Given the description of an element on the screen output the (x, y) to click on. 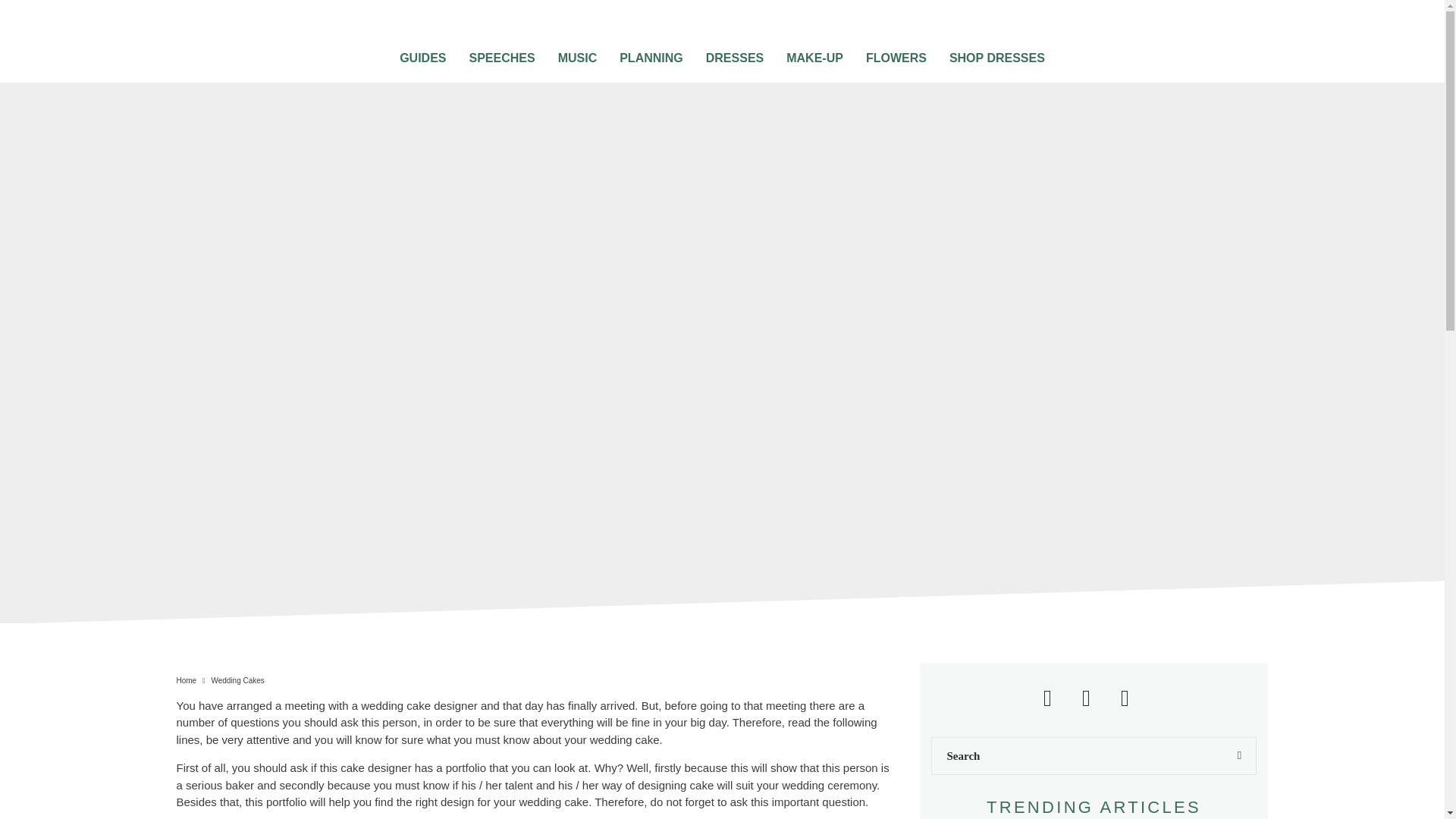
SPEECHES (501, 52)
DRESSES (734, 52)
GUIDES (422, 52)
PLANNING (651, 52)
Wedding Planning (651, 52)
MUSIC (577, 52)
